Given the description of an element on the screen output the (x, y) to click on. 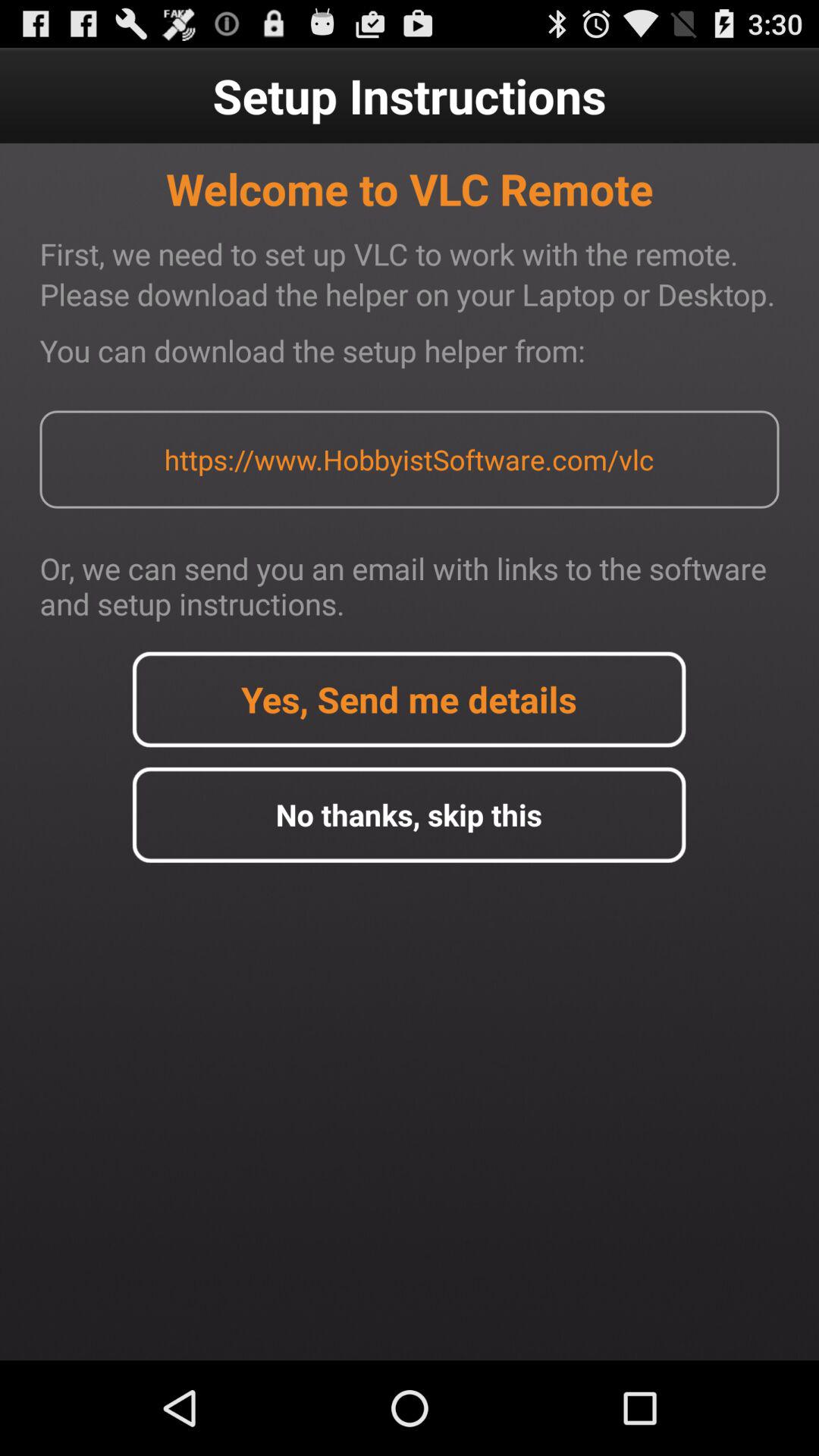
press the icon below the or we can app (408, 699)
